Given the description of an element on the screen output the (x, y) to click on. 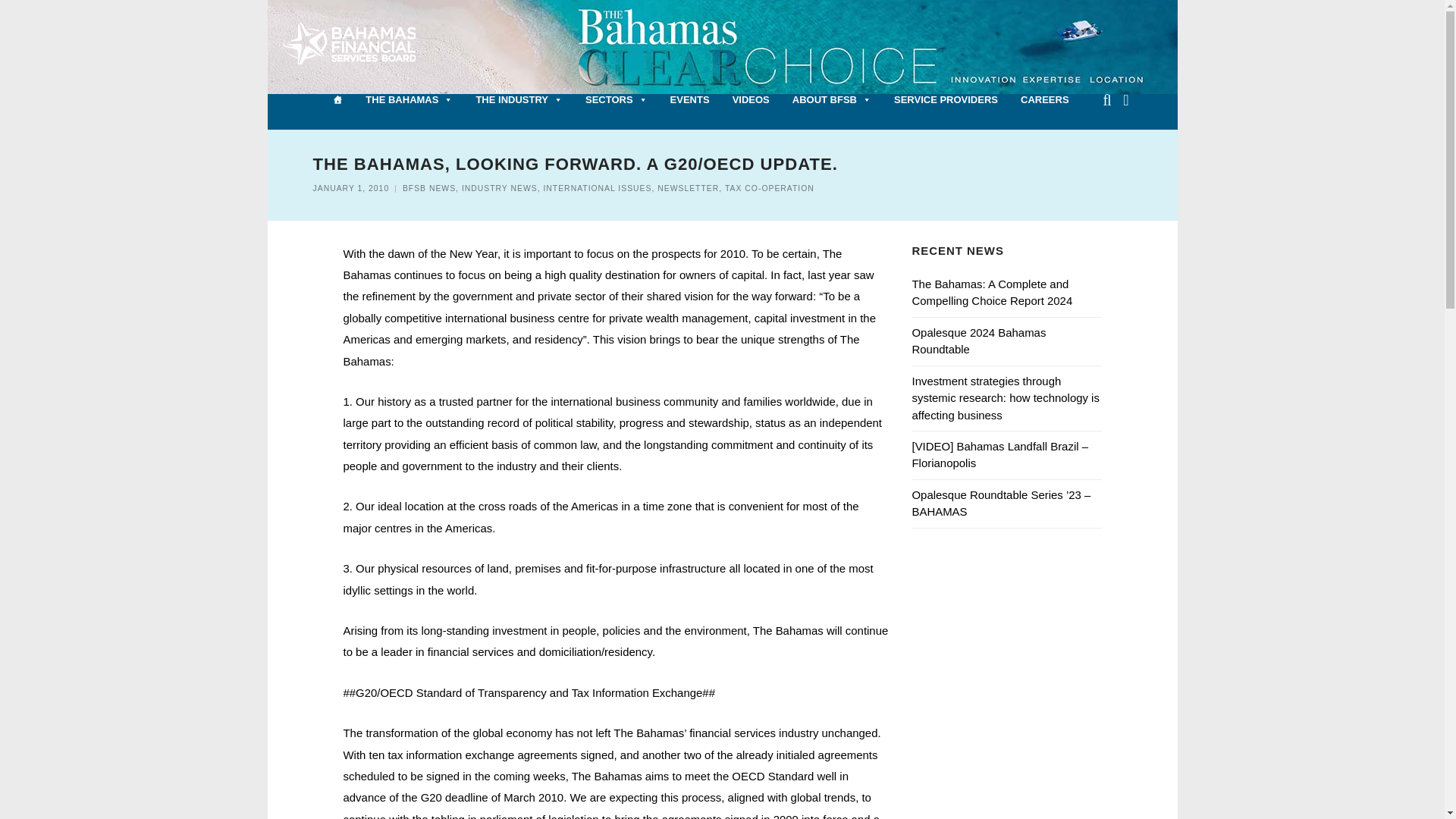
View all posts in BFSB News (429, 188)
View all posts in Industry News (499, 188)
View all posts in Tax Co-operation (769, 188)
View all posts in Newsletter (688, 188)
View all posts in International Issues (596, 188)
